Given the description of an element on the screen output the (x, y) to click on. 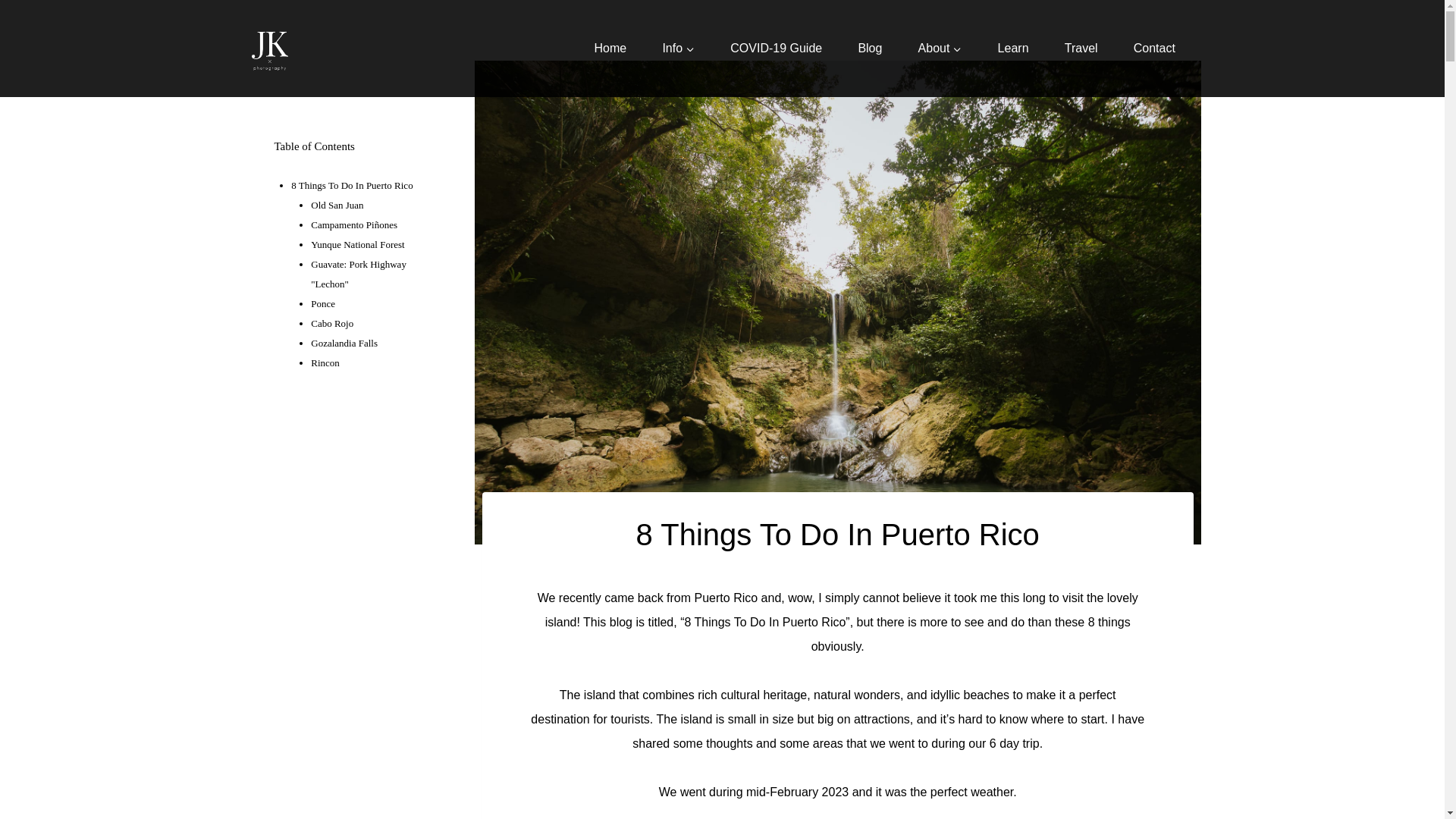
COVID-19 Guide (776, 48)
